Given the description of an element on the screen output the (x, y) to click on. 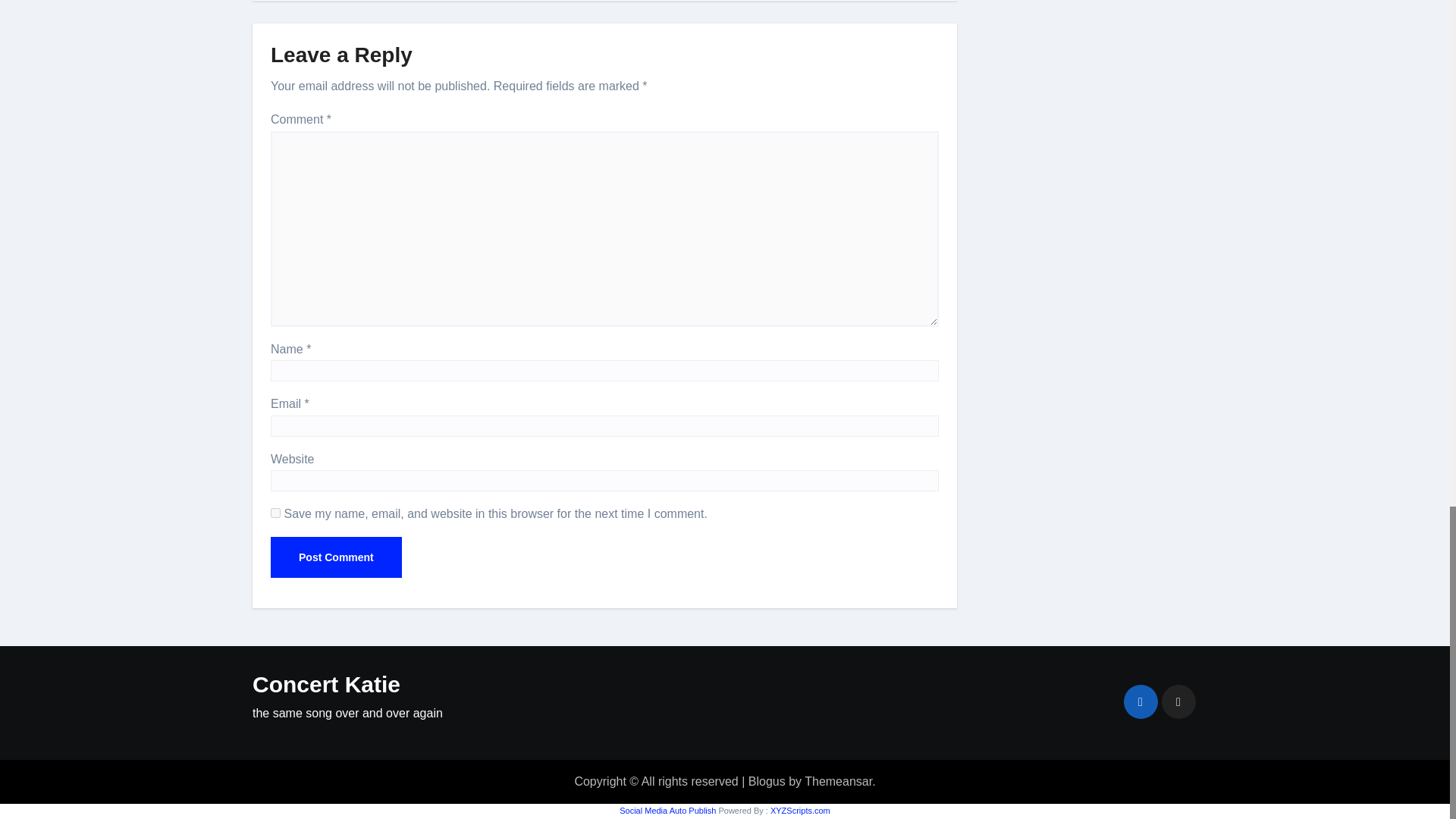
Post Comment (335, 557)
yes (275, 512)
Post Comment (335, 557)
Social Media Auto Publish (668, 809)
